Given the description of an element on the screen output the (x, y) to click on. 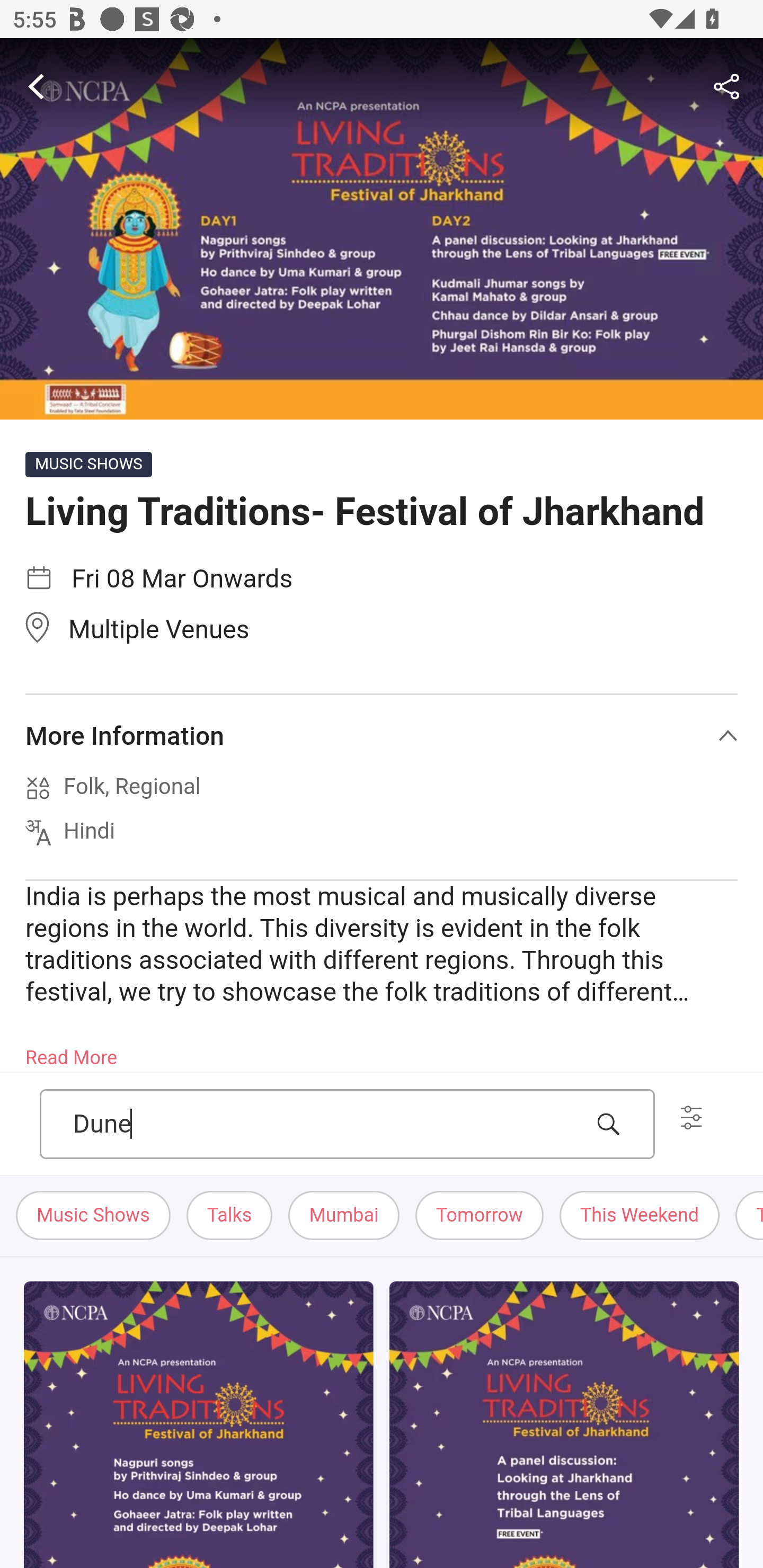
More Information (381, 735)
Read More (71, 1051)
Dune (327, 1124)
Music Shows (93, 1215)
Talks (229, 1215)
Mumbai (343, 1215)
Tomorrow (479, 1215)
This Weekend (638, 1215)
